Given the description of an element on the screen output the (x, y) to click on. 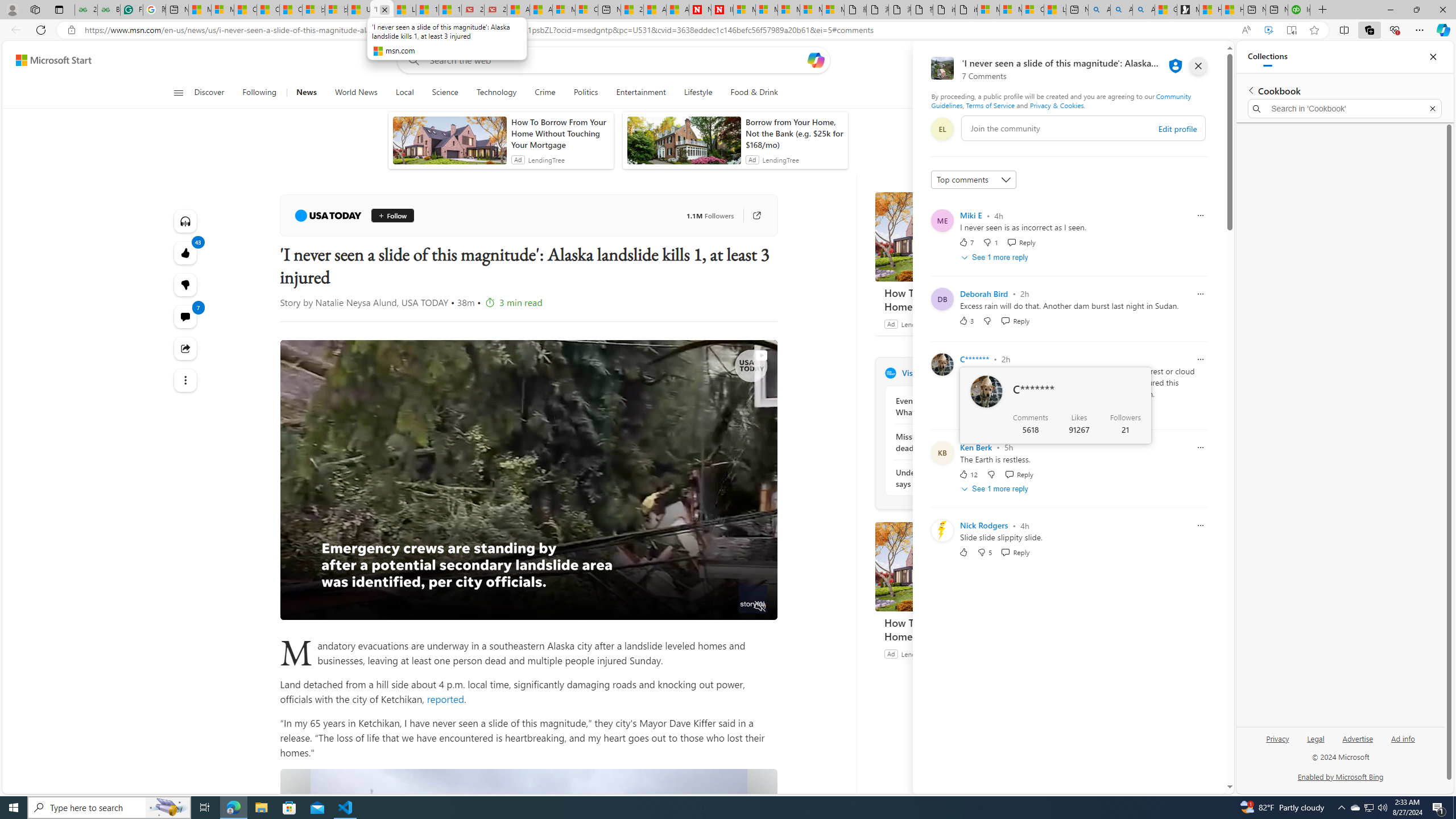
15 Ways Modern Life Contradicts the Teachings of Jesus (449, 9)
Edit profile (1176, 128)
C******* (974, 358)
Consumer Health Data Privacy Policy (1032, 9)
Quality Settings (692, 606)
Miki E (970, 215)
close (1198, 65)
